Given the description of an element on the screen output the (x, y) to click on. 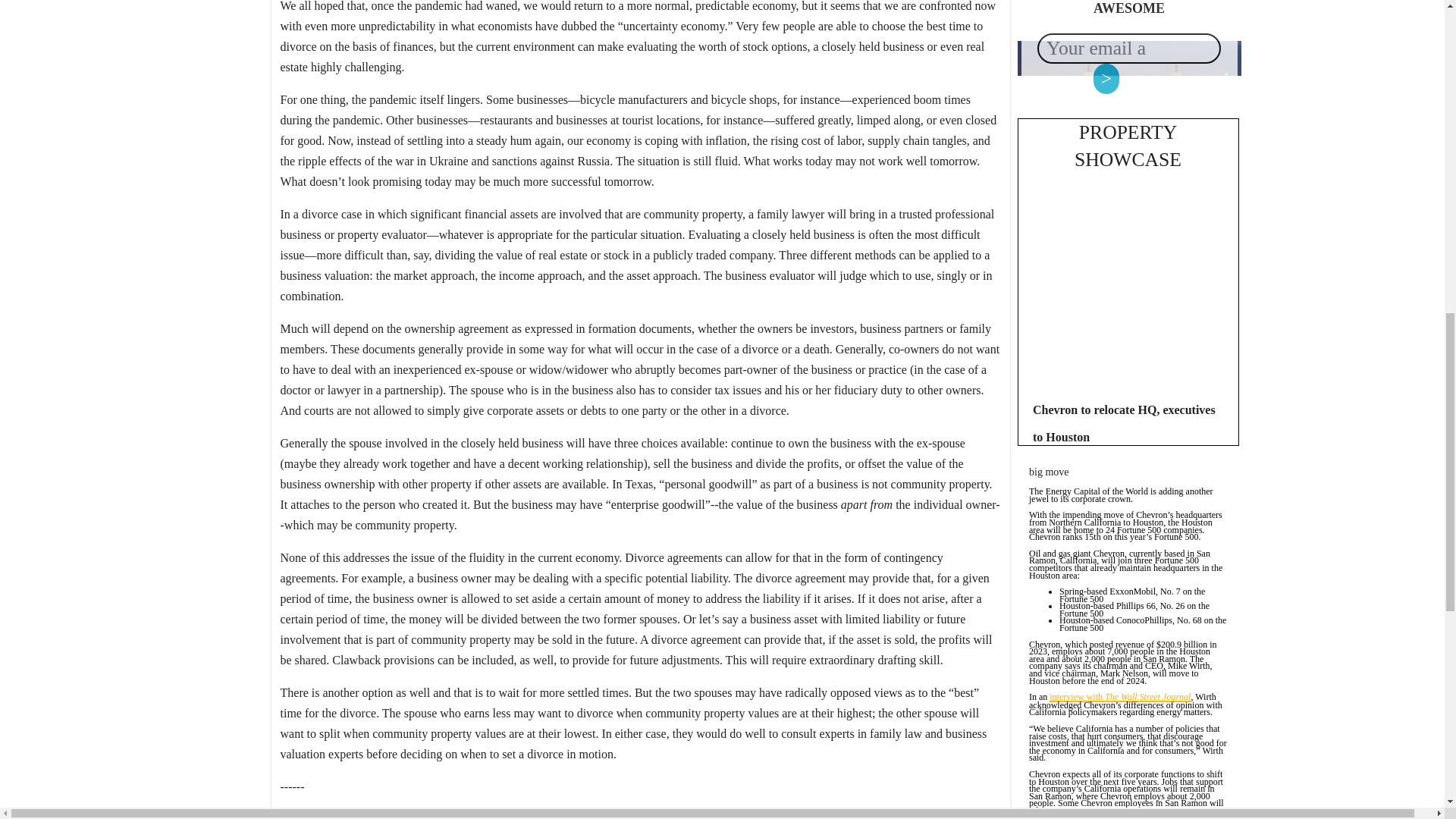
Chevron to relocate HQ, executives to Houston (1123, 423)
interview with The Wall Street Journal (1120, 697)
PROPERTY SHOWCASE (1127, 145)
